Given the description of an element on the screen output the (x, y) to click on. 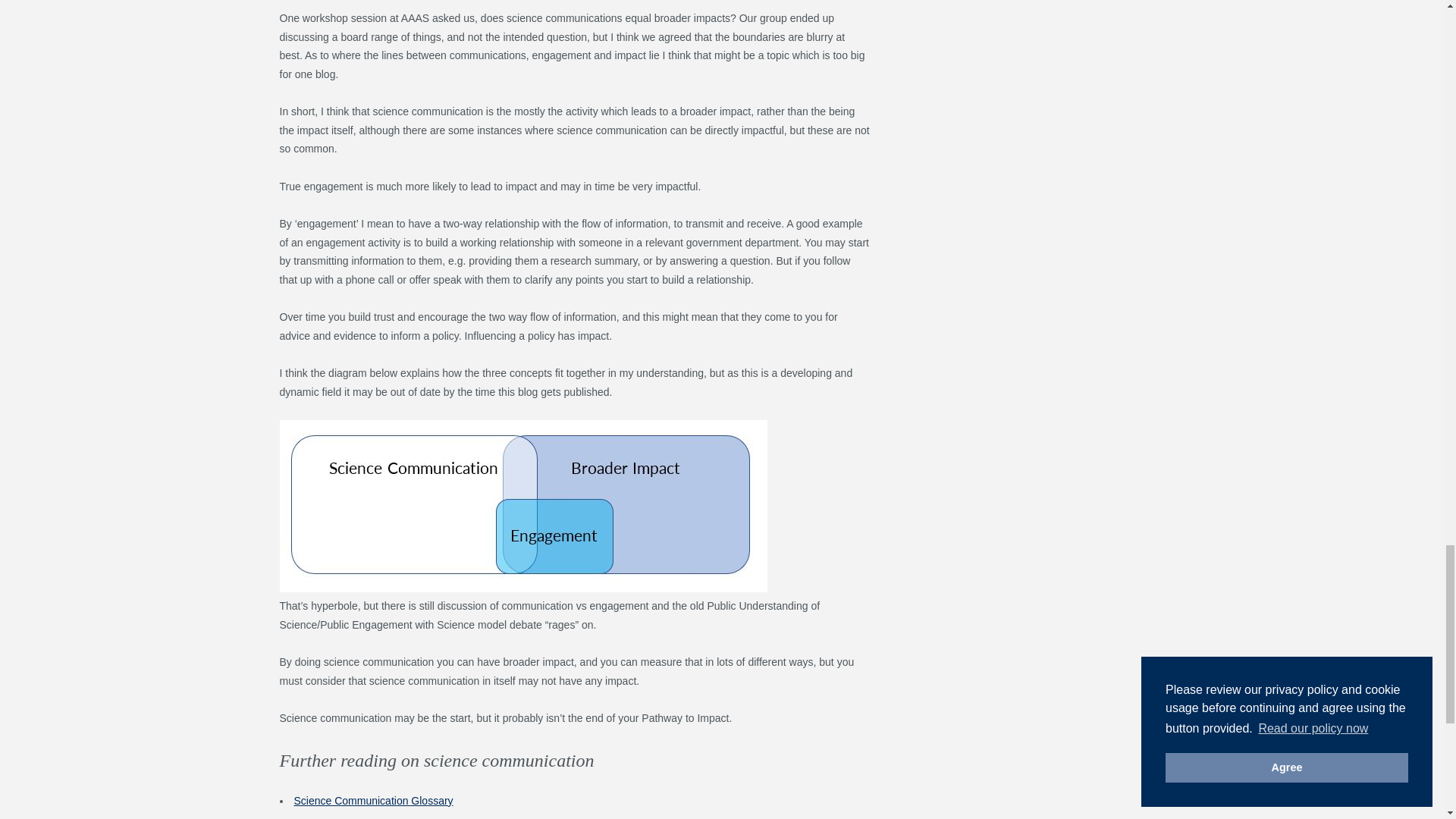
Science Communication Glossary (373, 800)
